Given the description of an element on the screen output the (x, y) to click on. 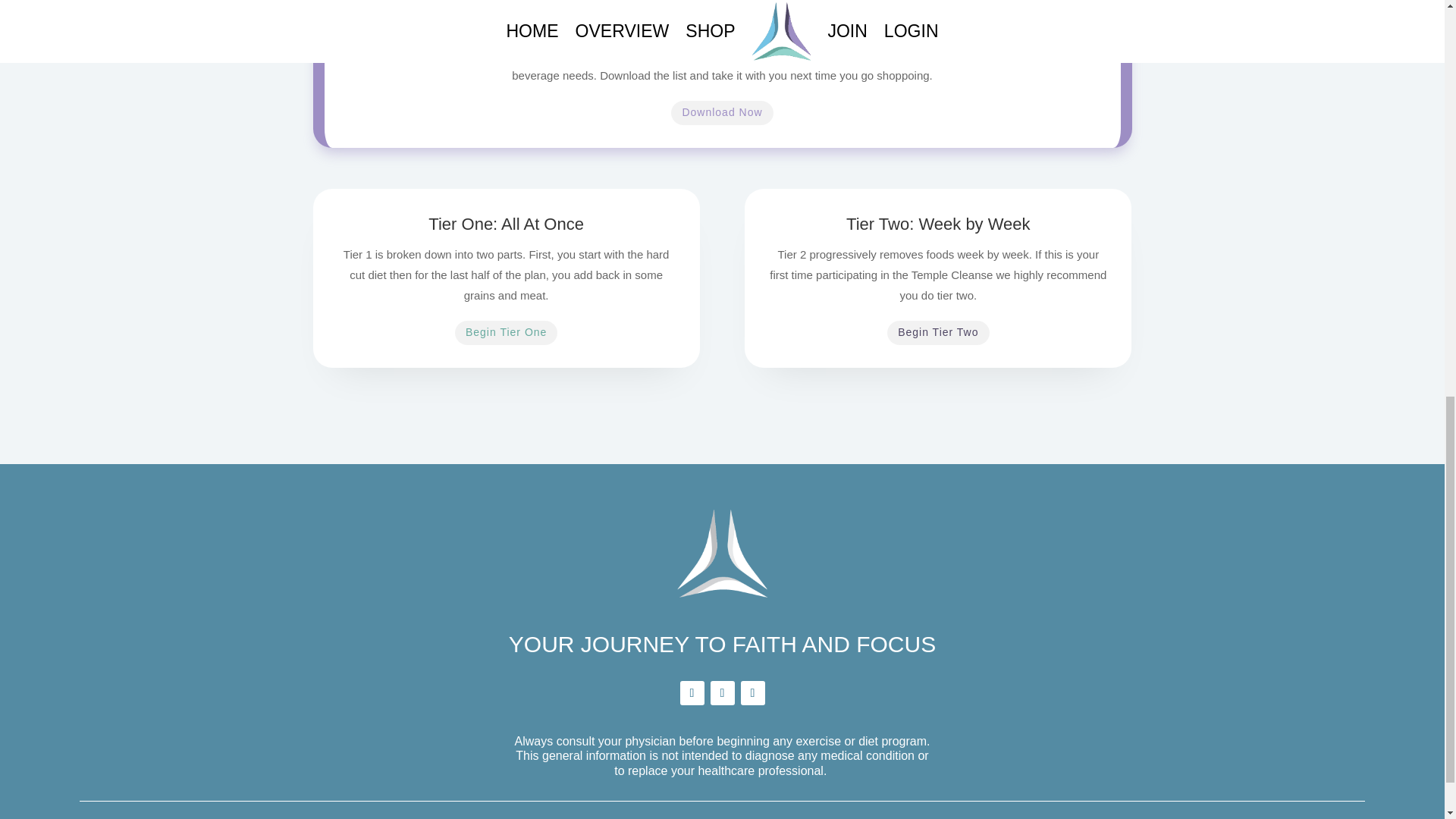
Download Now (722, 112)
Begin Tier One (505, 332)
Follow on Facebook (691, 692)
Follow on Pinterest (721, 692)
Follow on Youtube (751, 692)
Begin Tier Two (937, 332)
